Given the description of an element on the screen output the (x, y) to click on. 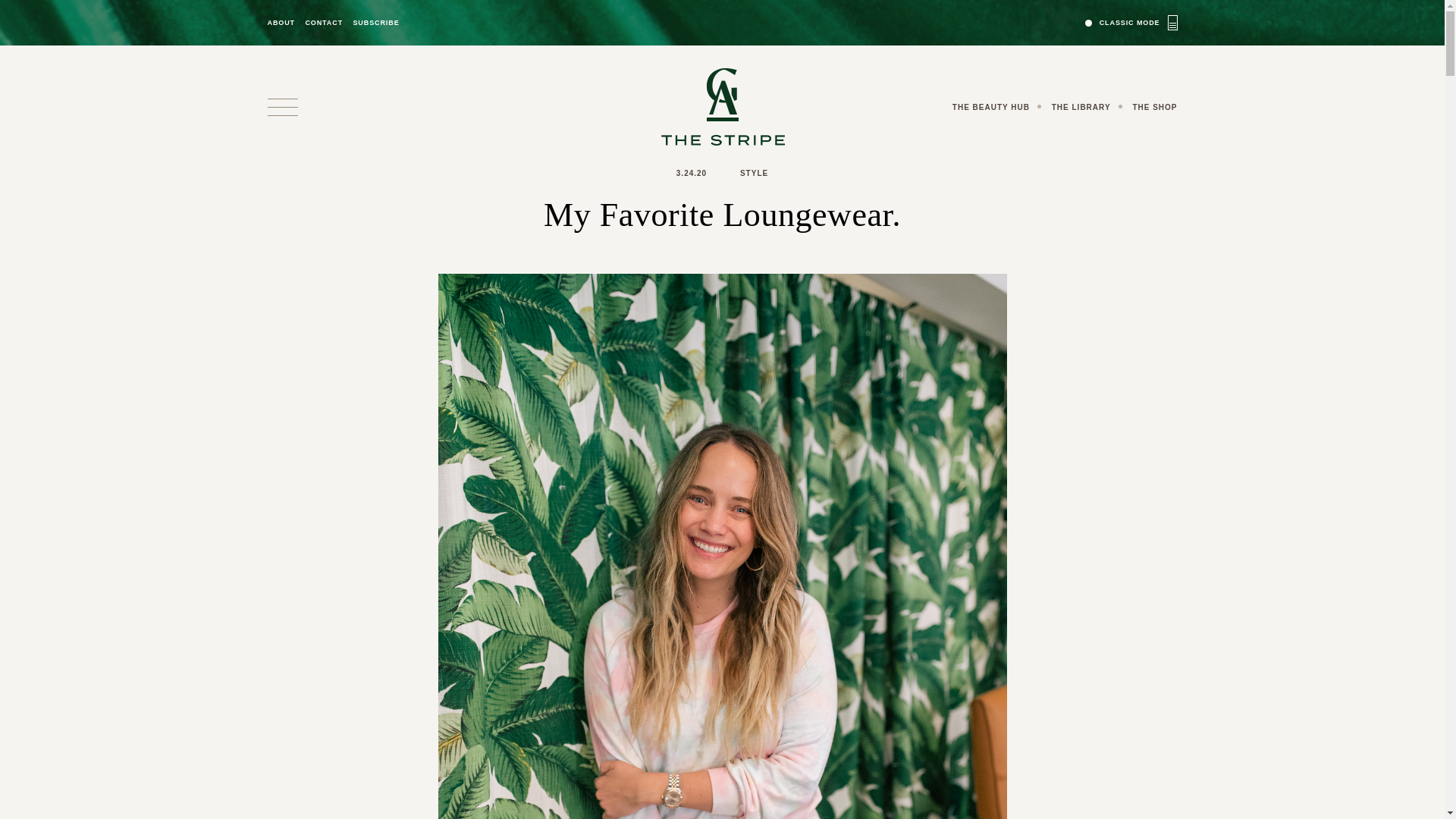
CLASSIC MODE (1130, 22)
View all posts in style (753, 172)
SUBSCRIBE (375, 23)
CONTACT (323, 23)
ABOUT (280, 23)
The Stripe (722, 106)
